Given the description of an element on the screen output the (x, y) to click on. 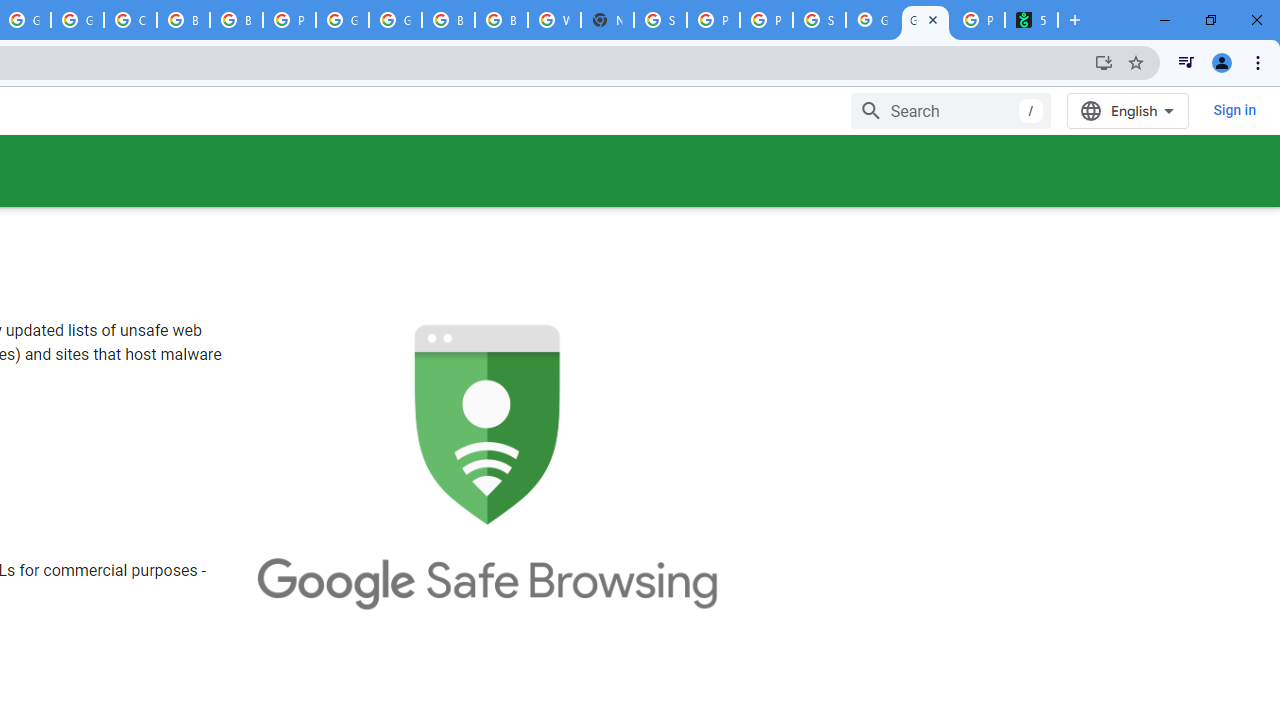
Google Cloud Platform (395, 20)
Sign in - Google Accounts (660, 20)
English (1128, 110)
New Tab (607, 20)
Browse Chrome as a guest - Computer - Google Chrome Help (448, 20)
Install Google Developers (1103, 62)
Browse Chrome as a guest - Computer - Google Chrome Help (235, 20)
